Given the description of an element on the screen output the (x, y) to click on. 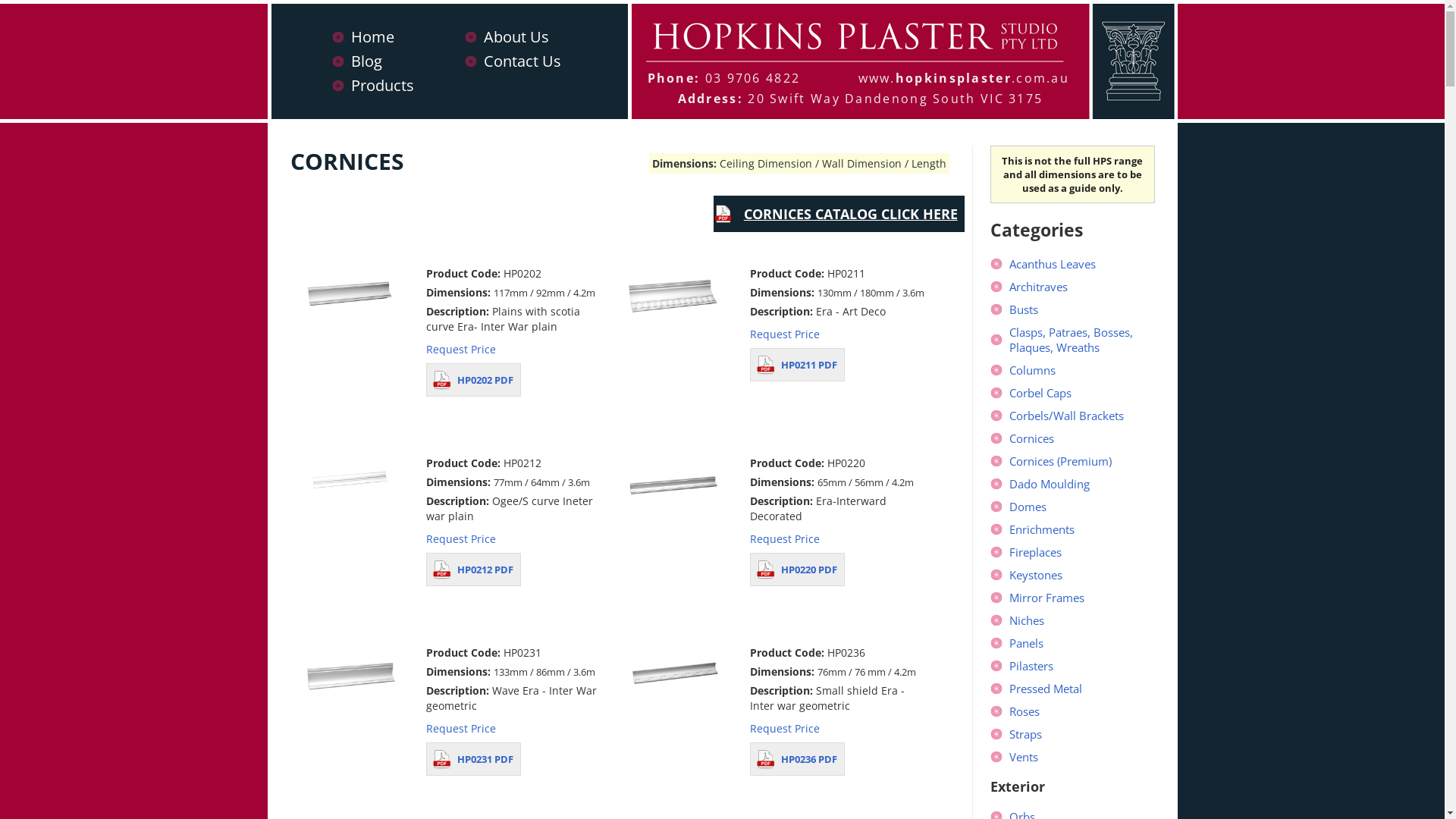
Request Price Element type: text (460, 728)
Architraves Element type: text (1038, 286)
Blog Element type: text (365, 61)
Home Element type: text (371, 36)
Columns Element type: text (1032, 369)
Roses Element type: text (1024, 710)
Cornices (Premium) Element type: text (1060, 460)
Corbels/Wall Brackets Element type: text (1066, 415)
Domes Element type: text (1027, 506)
Enrichments Element type: text (1041, 528)
Request Price Element type: text (784, 728)
Cornices Element type: text (1031, 437)
Busts Element type: text (1023, 308)
Pressed Metal Element type: text (1045, 688)
Vents Element type: text (1023, 756)
Pilasters Element type: text (1031, 665)
Products Element type: text (381, 85)
HP0211 PDF Element type: text (796, 364)
Acanthus Leaves Element type: text (1052, 263)
Contact Us Element type: text (522, 61)
Keystones Element type: text (1035, 574)
Fireplaces Element type: text (1035, 551)
Clasps, Patraes, Bosses, Plaques, Wreaths Element type: text (1070, 339)
Request Price Element type: text (784, 333)
HP0220 PDF Element type: text (796, 569)
Mirror Frames Element type: text (1046, 597)
Panels Element type: text (1026, 642)
HP0202 PDF Element type: text (473, 379)
Request Price Element type: text (460, 538)
Request Price Element type: text (784, 538)
Niches Element type: text (1026, 619)
HP0212 PDF Element type: text (473, 569)
CORNICES CATALOG CLICK HERE Element type: text (838, 213)
HP0231 PDF Element type: text (473, 758)
Request Price Element type: text (460, 349)
HP0236 PDF Element type: text (796, 758)
Corbel Caps Element type: text (1040, 392)
Straps Element type: text (1025, 733)
Dado Moulding Element type: text (1049, 483)
About Us Element type: text (516, 36)
